Given the description of an element on the screen output the (x, y) to click on. 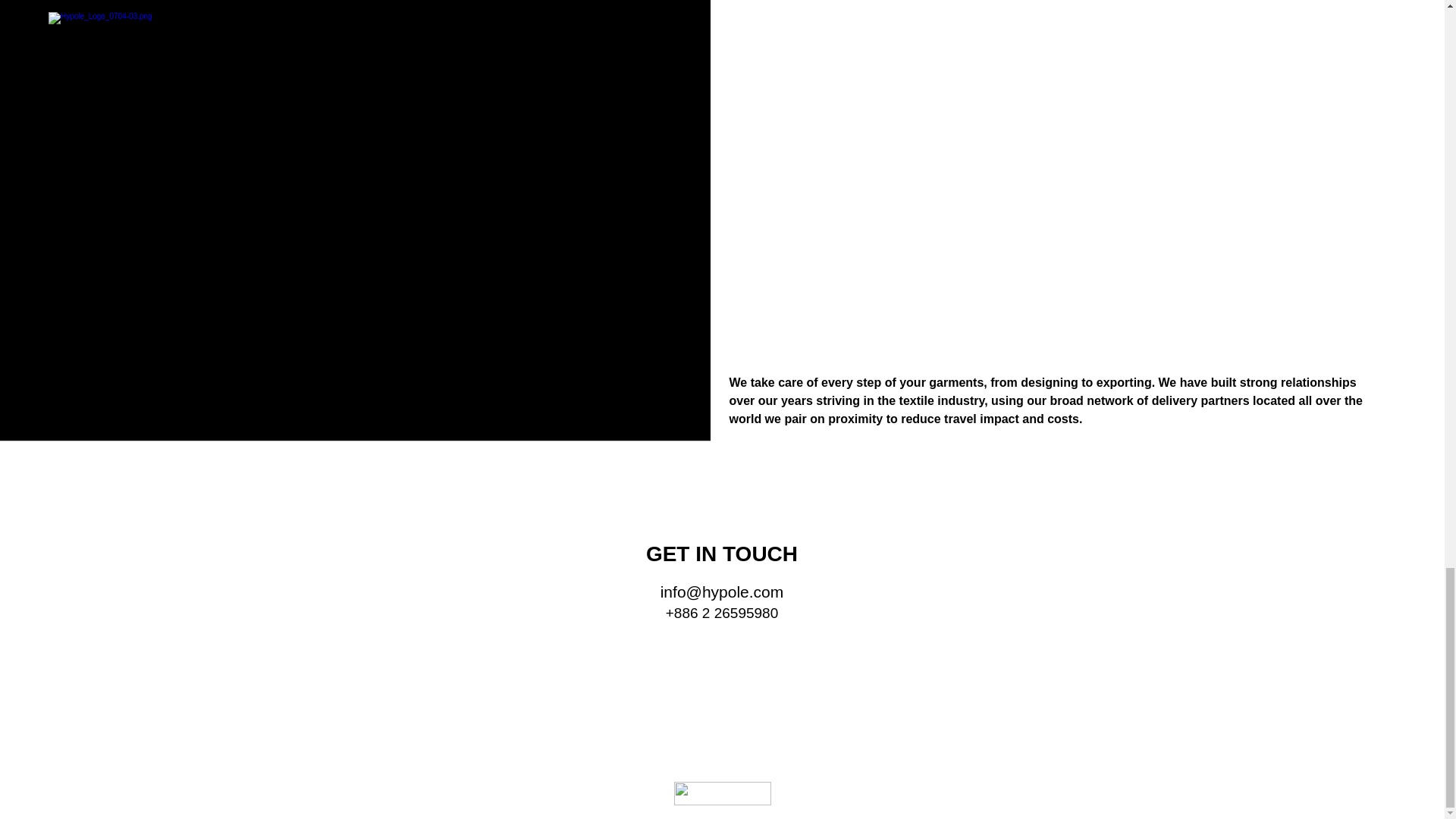
hypole logo.png (721, 793)
